Given the description of an element on the screen output the (x, y) to click on. 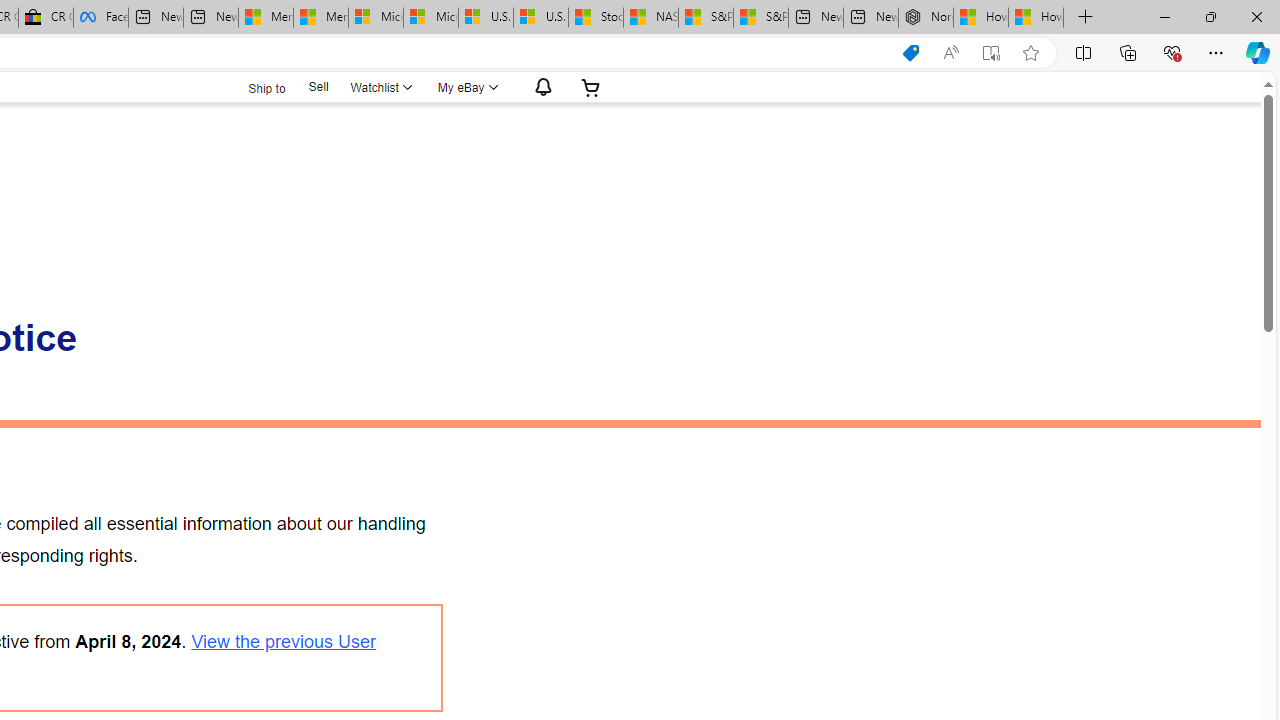
My eBay (466, 87)
Expand Cart (591, 87)
My eBayExpand My eBay (466, 87)
